Given the description of an element on the screen output the (x, y) to click on. 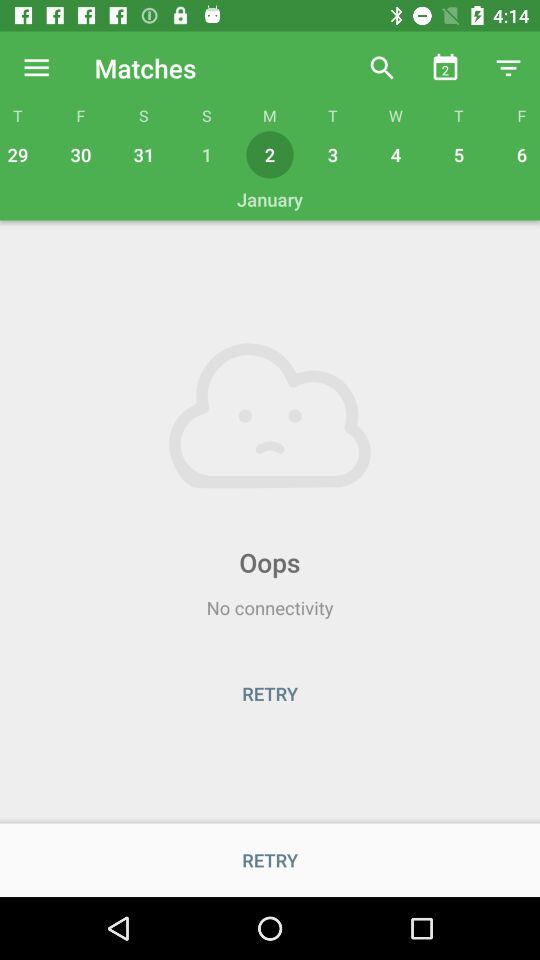
open item next to t icon (381, 67)
